Given the description of an element on the screen output the (x, y) to click on. 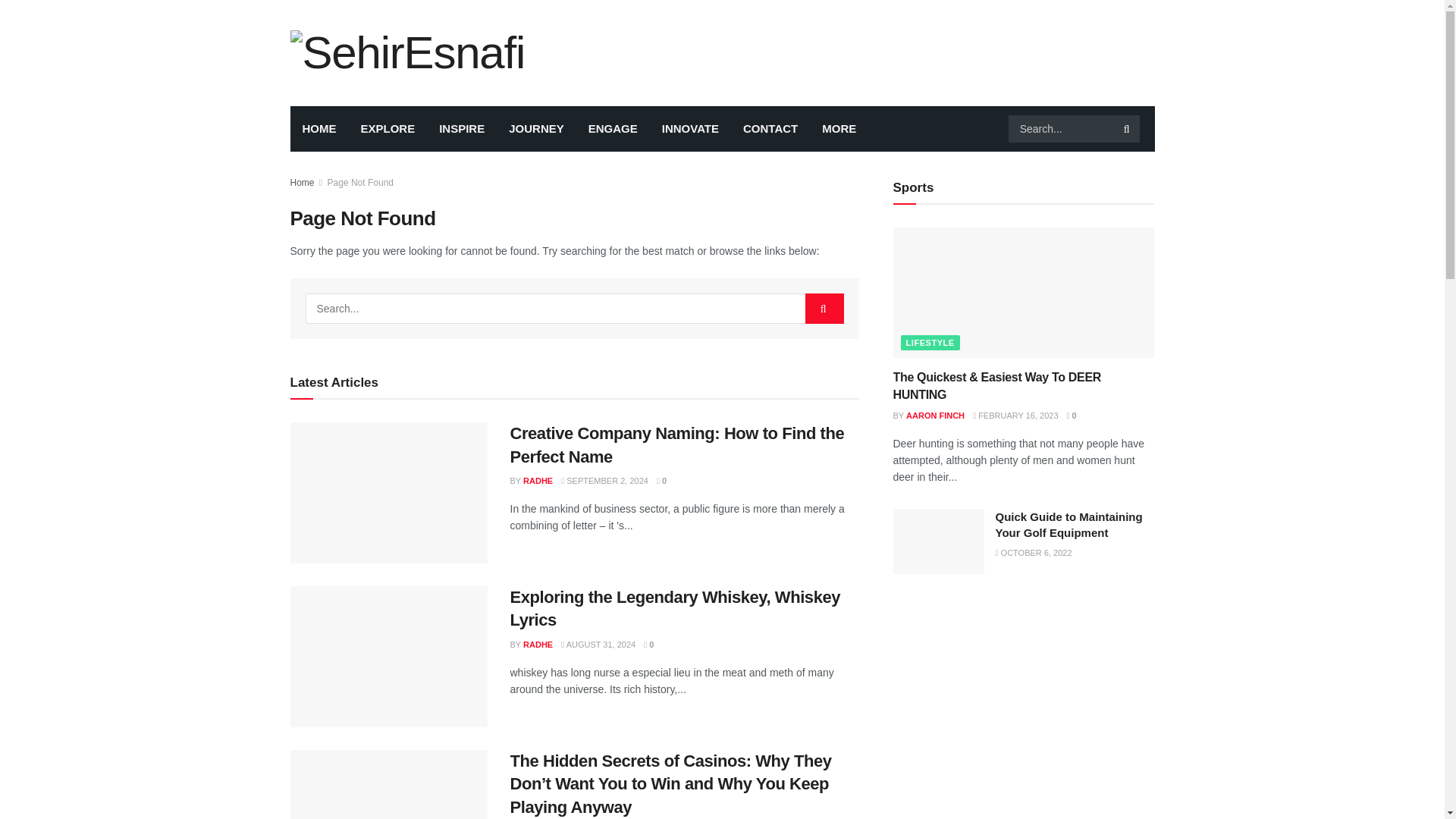
Home (301, 182)
MORE (838, 128)
CONTACT (769, 128)
JOURNEY (536, 128)
INSPIRE (461, 128)
EXPLORE (388, 128)
INNOVATE (689, 128)
Page Not Found (360, 182)
HOME (318, 128)
Creative Company Naming: How to Find the Perfect Name (676, 445)
